Given the description of an element on the screen output the (x, y) to click on. 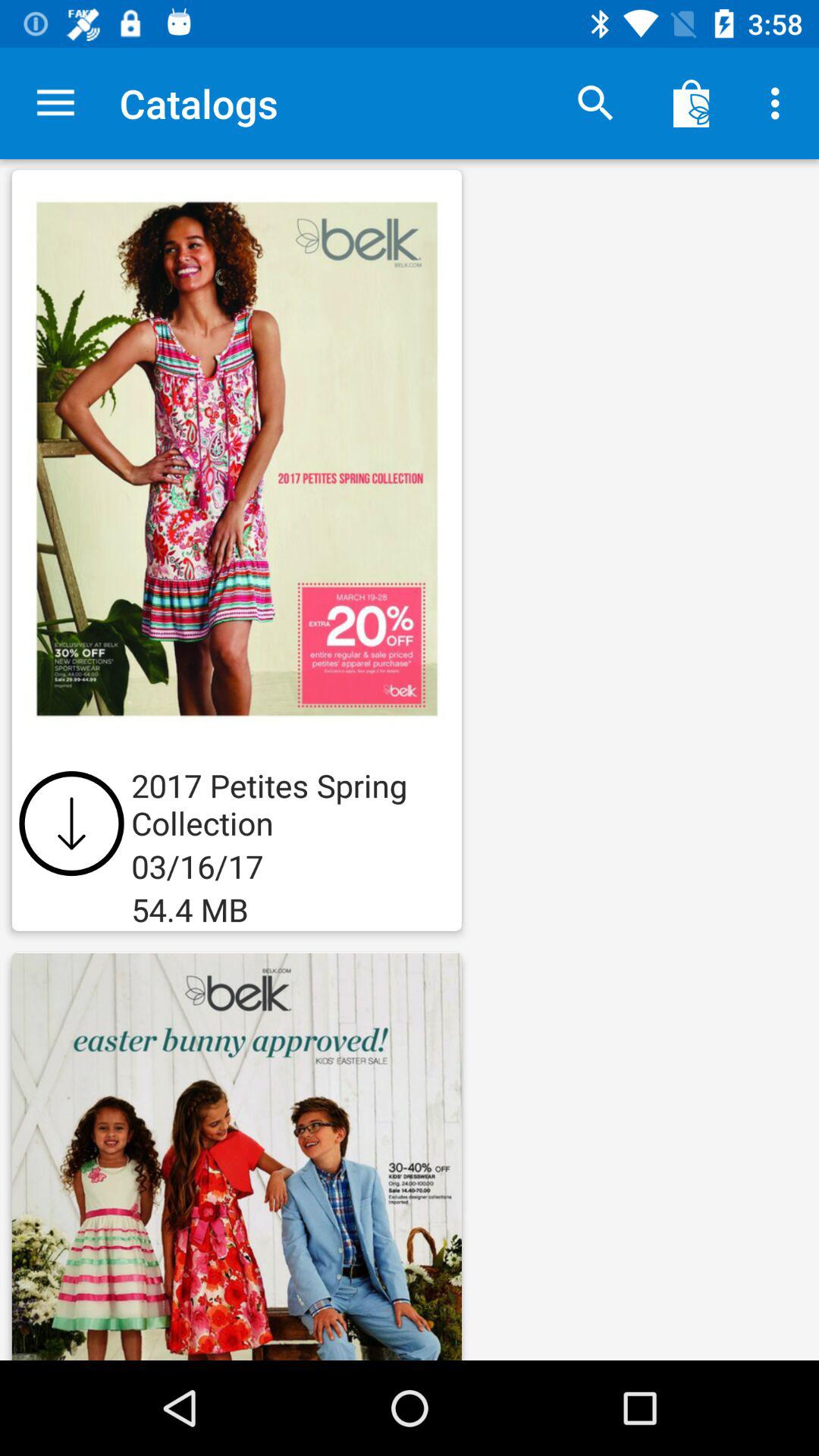
choose the app next to the catalogs item (595, 103)
